Given the description of an element on the screen output the (x, y) to click on. 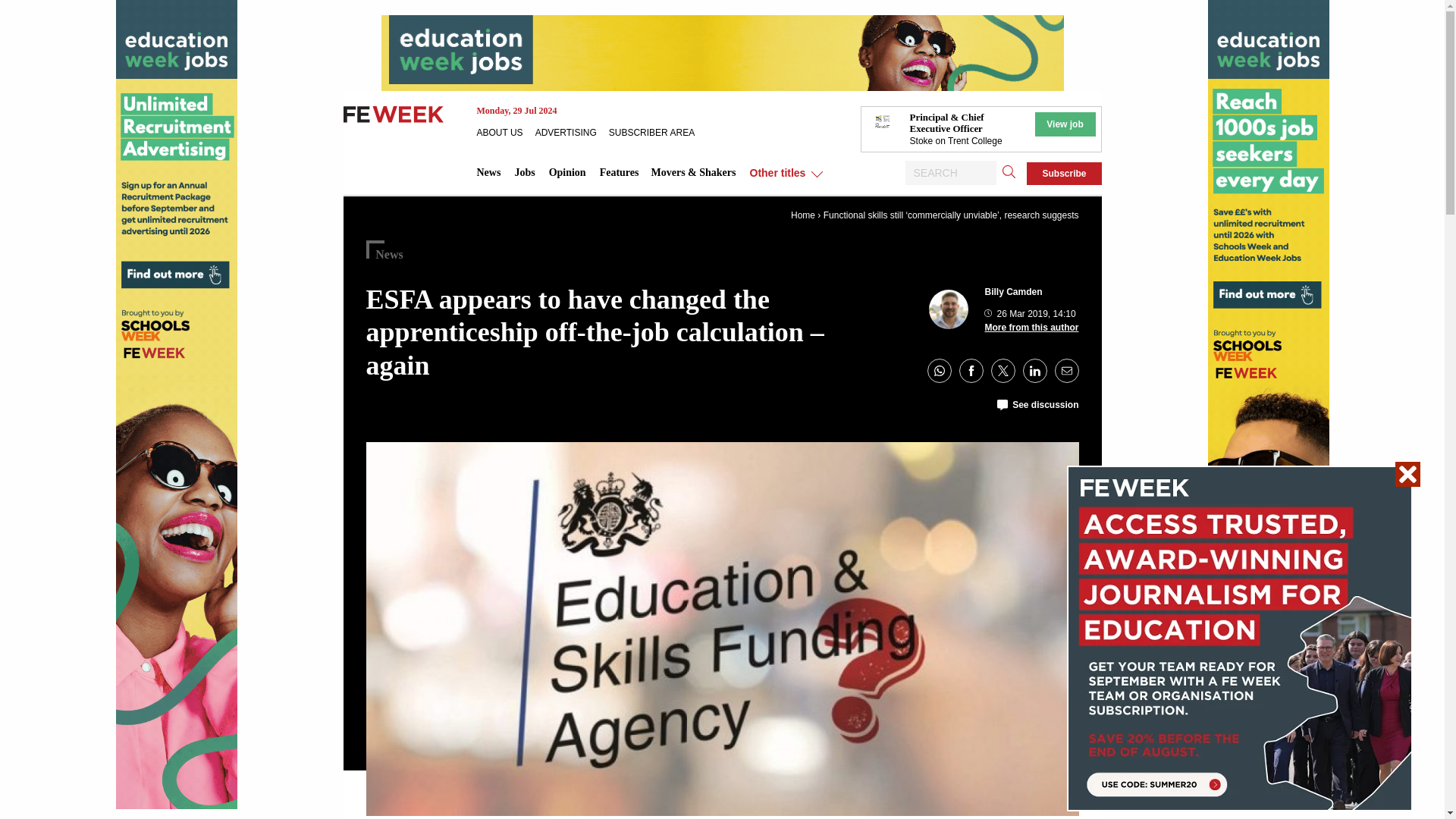
SUBSCRIBER AREA (657, 132)
ADVERTISING (571, 132)
ABOUT US (505, 132)
Close (1407, 473)
Home (802, 214)
View job (1063, 124)
Posts by Billy Camden (1013, 291)
